Given the description of an element on the screen output the (x, y) to click on. 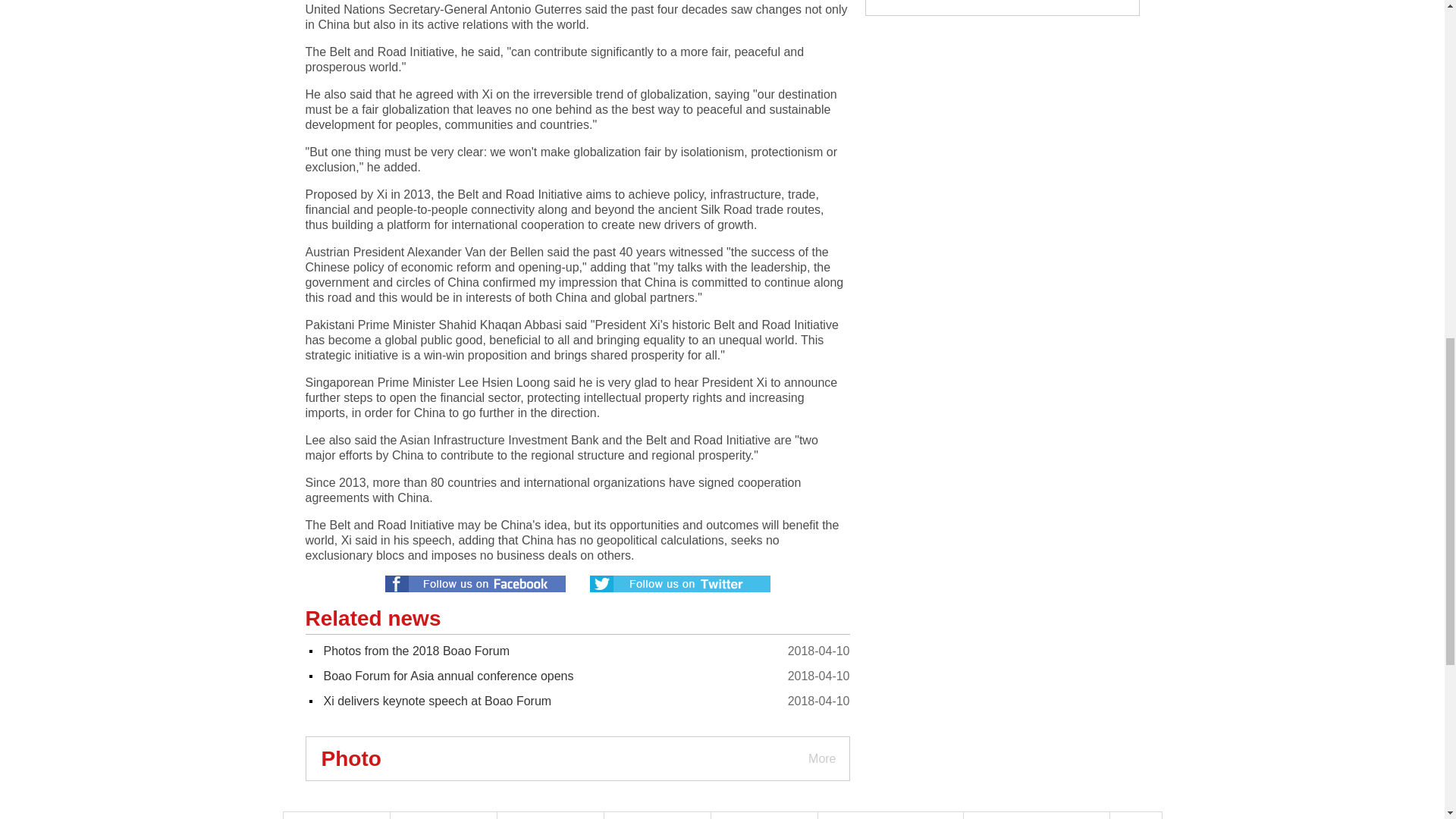
Xi delivers keynote speech at Boao Forum (437, 700)
Boao Forum for Asia annual conference opens (448, 675)
Photos from the 2018 Boao Forum (415, 650)
